Given the description of an element on the screen output the (x, y) to click on. 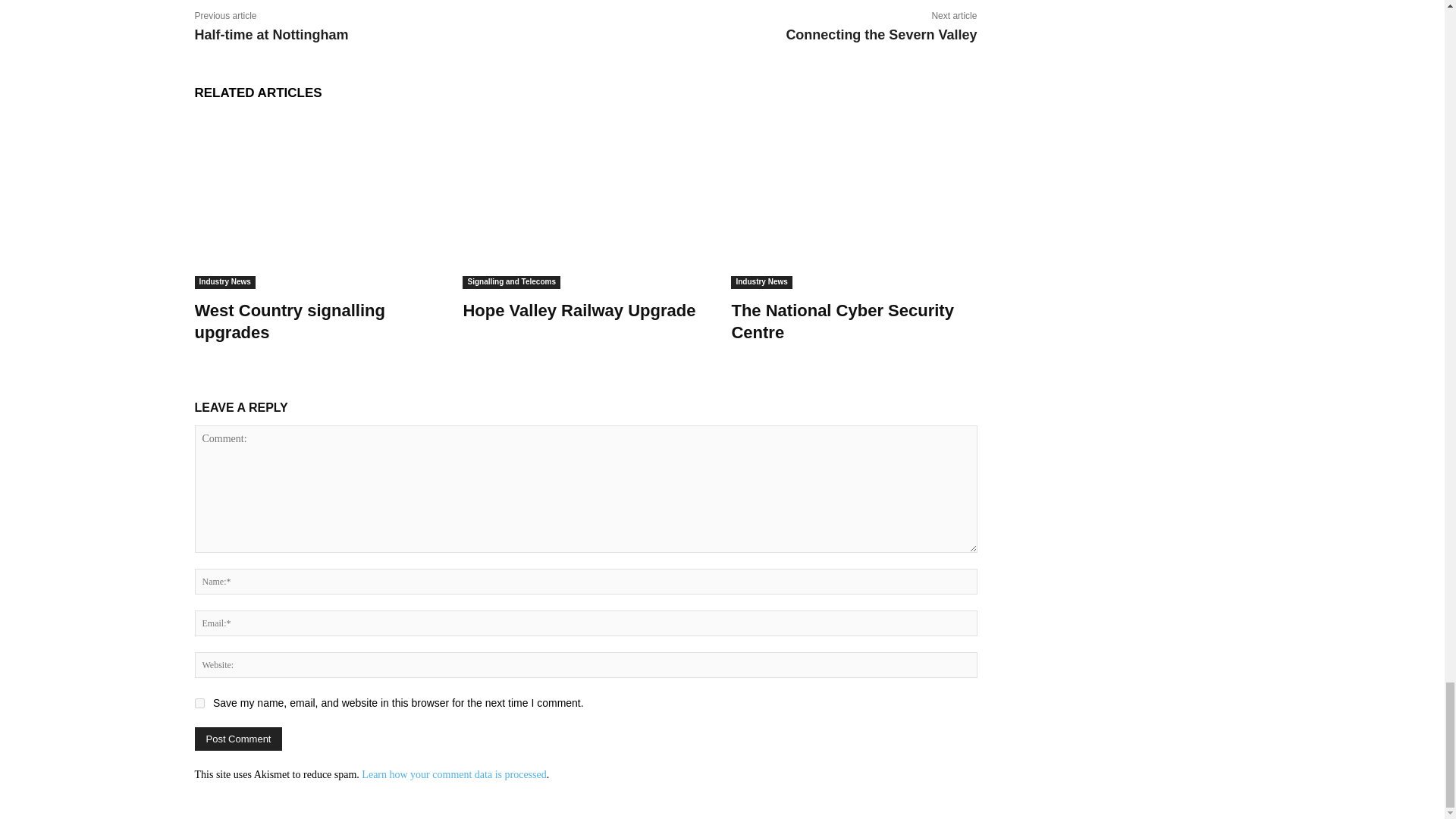
yes (198, 703)
Post Comment (237, 739)
